Given the description of an element on the screen output the (x, y) to click on. 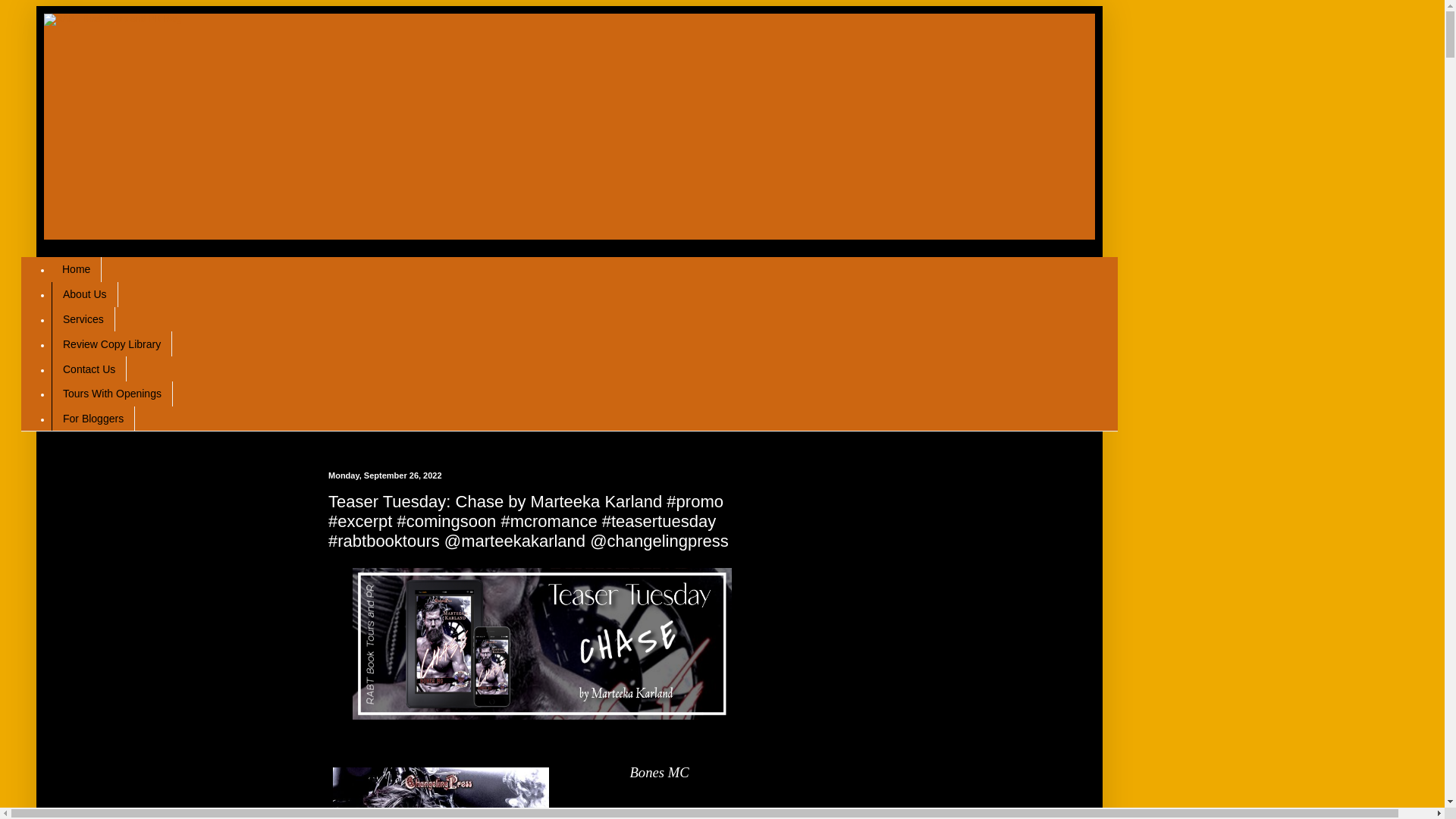
About Us (83, 294)
Services (82, 319)
Tours With Openings (111, 393)
Contact Us (88, 368)
Review Copy Library (110, 343)
For Bloggers (92, 418)
Home (75, 269)
